Given the description of an element on the screen output the (x, y) to click on. 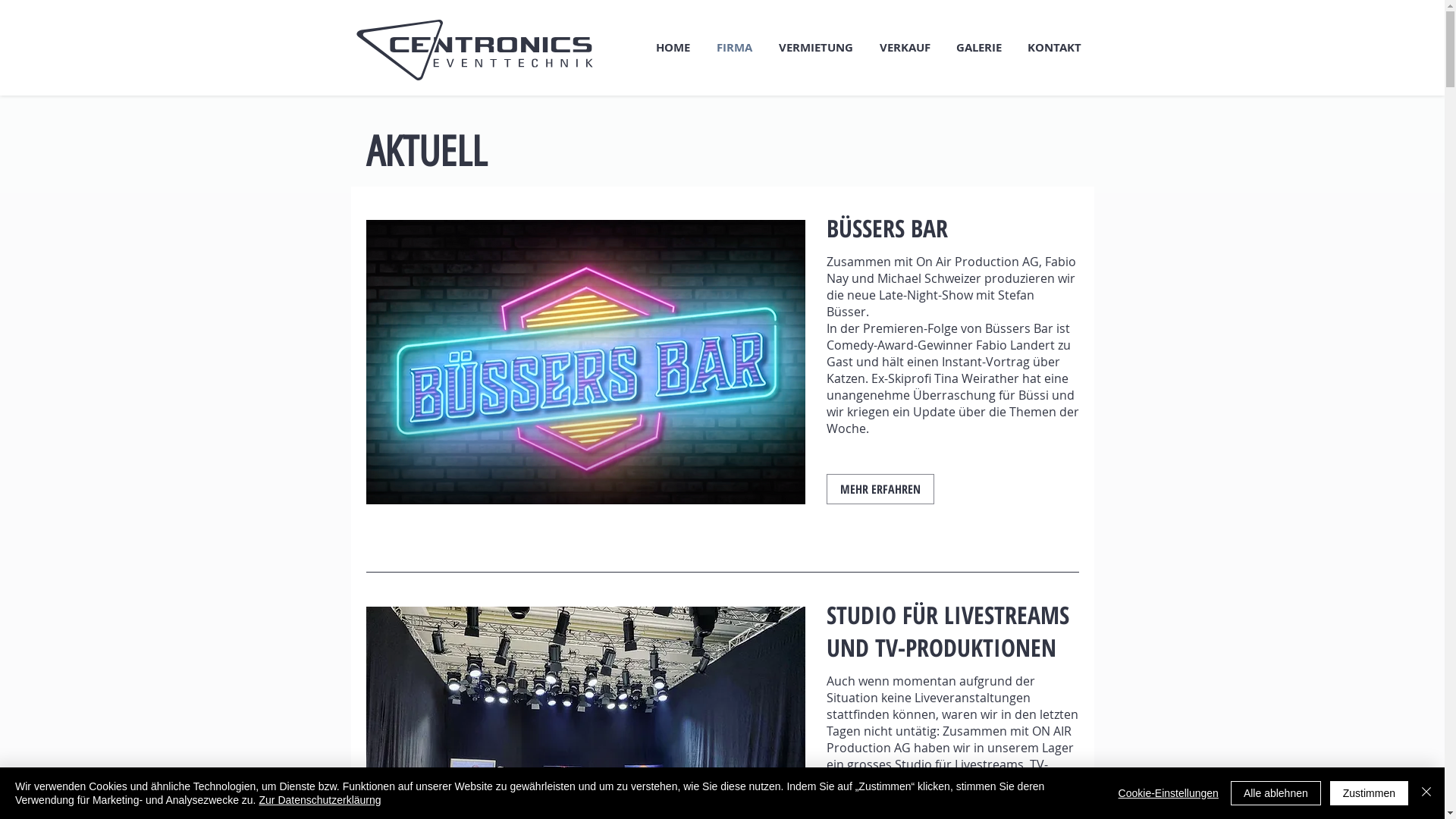
Alle ablehnen Element type: text (1275, 793)
MEHR ERFAHREN Element type: text (880, 488)
VERKAUF Element type: text (904, 47)
FIRMA Element type: text (734, 47)
VERMIETUNG Element type: text (815, 47)
Zustimmen Element type: text (1369, 793)
HOME Element type: text (673, 47)
GALERIE Element type: text (978, 47)
KONTAKT Element type: text (1054, 47)
